Given the description of an element on the screen output the (x, y) to click on. 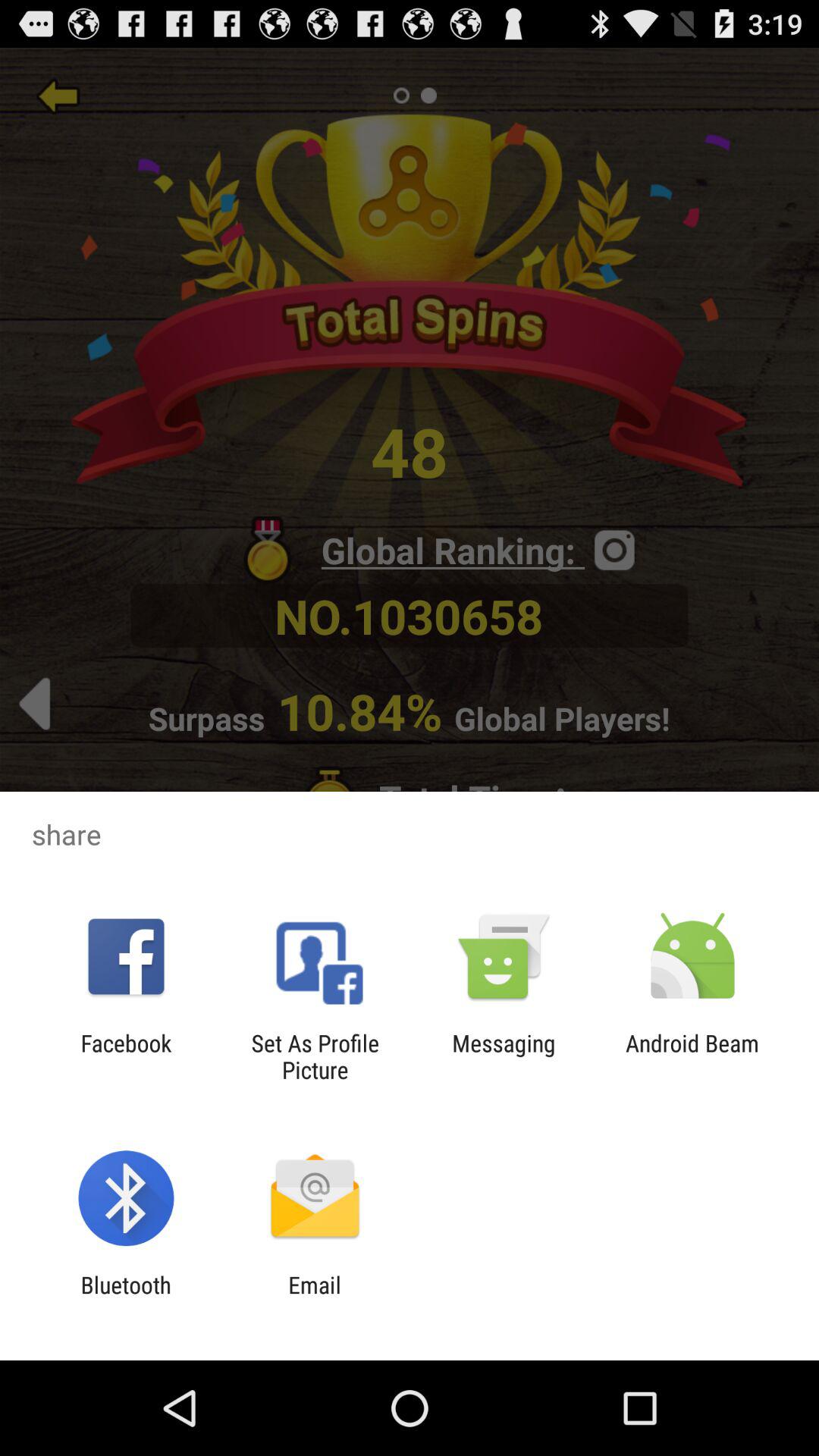
click the icon at the bottom right corner (692, 1056)
